Given the description of an element on the screen output the (x, y) to click on. 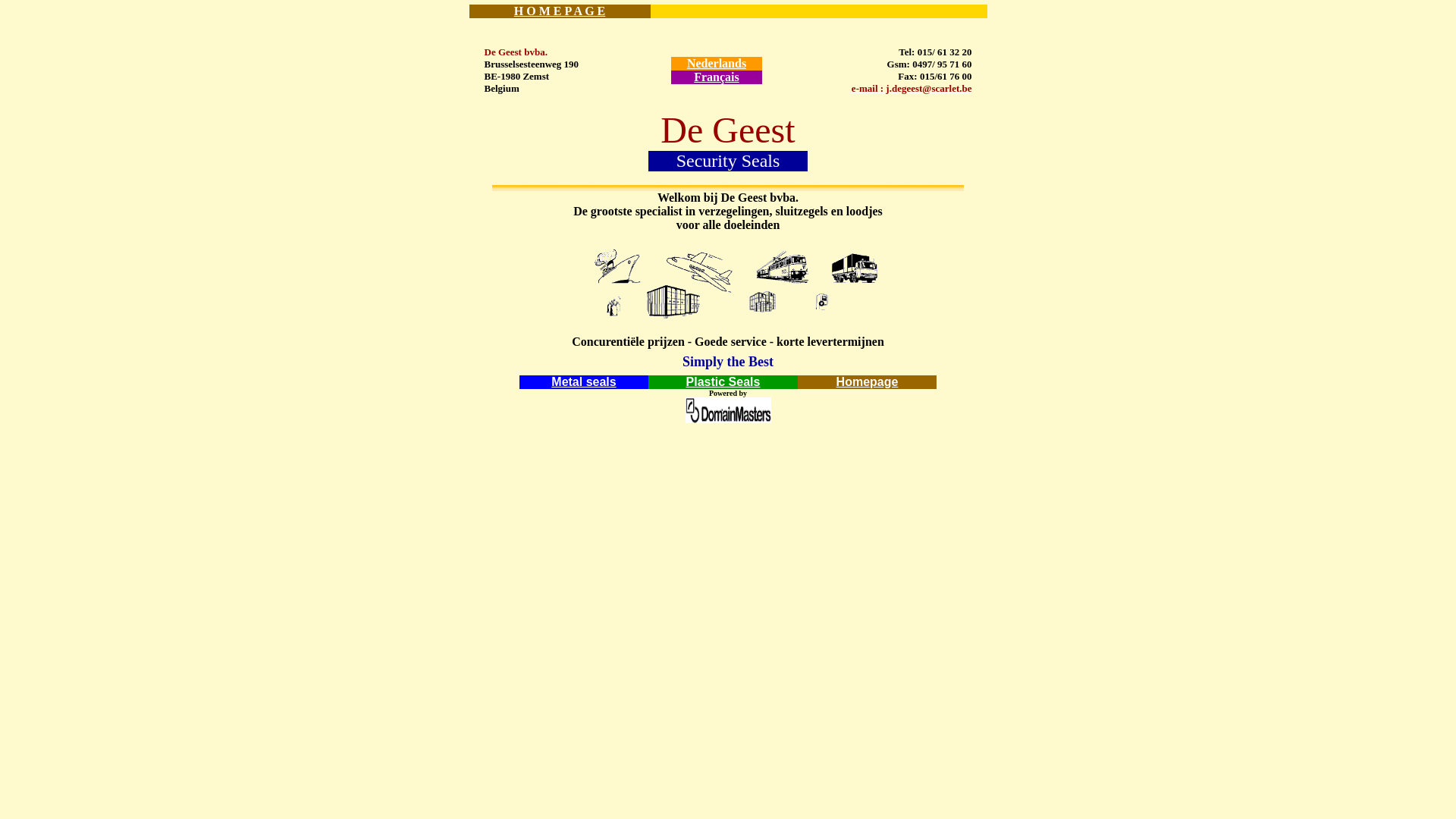
Homepage Element type: text (867, 381)
Metal seals Element type: text (583, 381)
H O M E P A G E Element type: text (559, 10)
Nederlands Element type: text (716, 62)
e-mail : j.degeest@scarlet.be Element type: text (911, 88)
Plastic Seals Element type: text (723, 381)
